Given the description of an element on the screen output the (x, y) to click on. 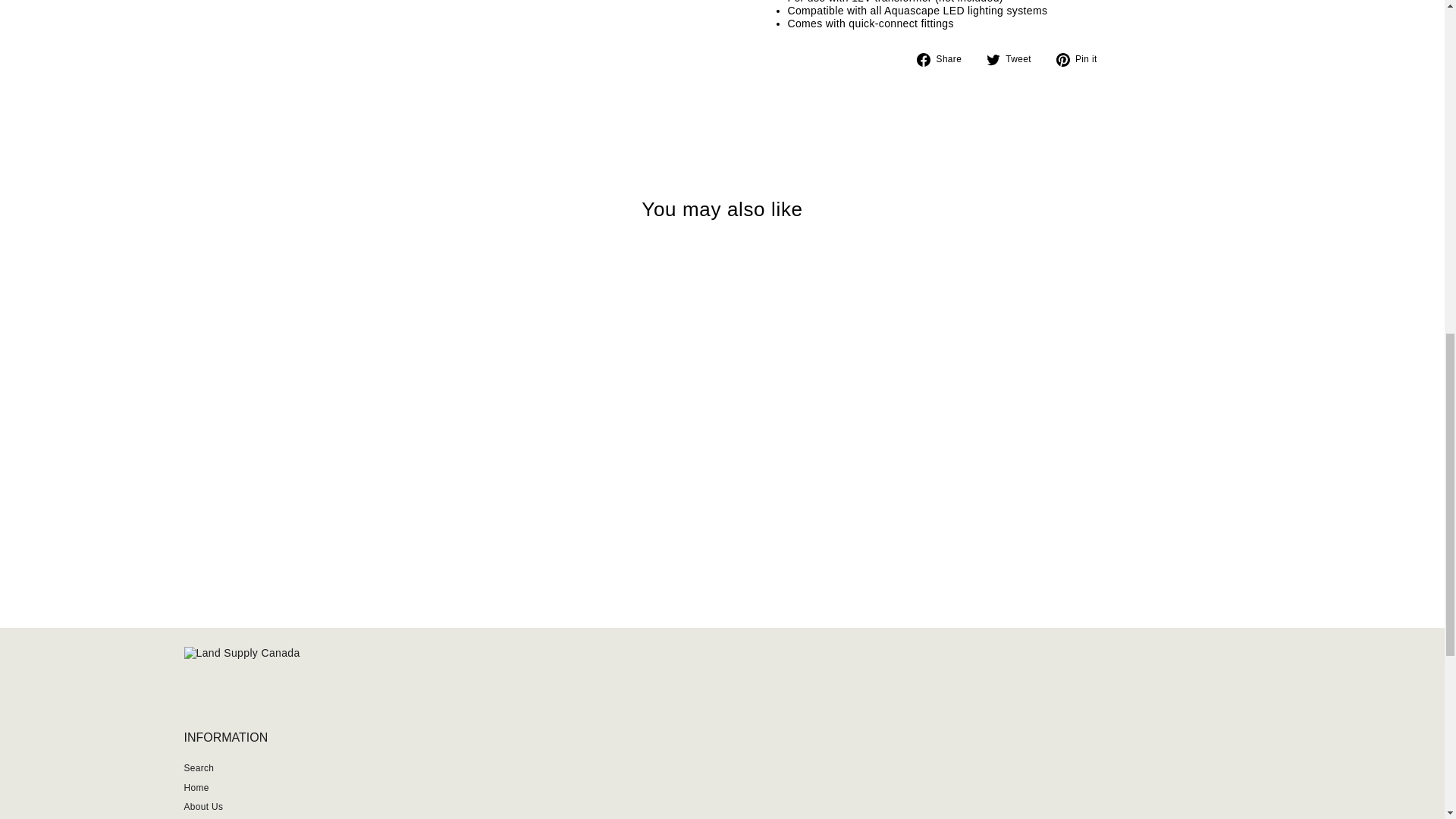
Tweet on Twitter (1014, 59)
Share on Facebook (944, 59)
Pin on Pinterest (1082, 59)
